Given the description of an element on the screen output the (x, y) to click on. 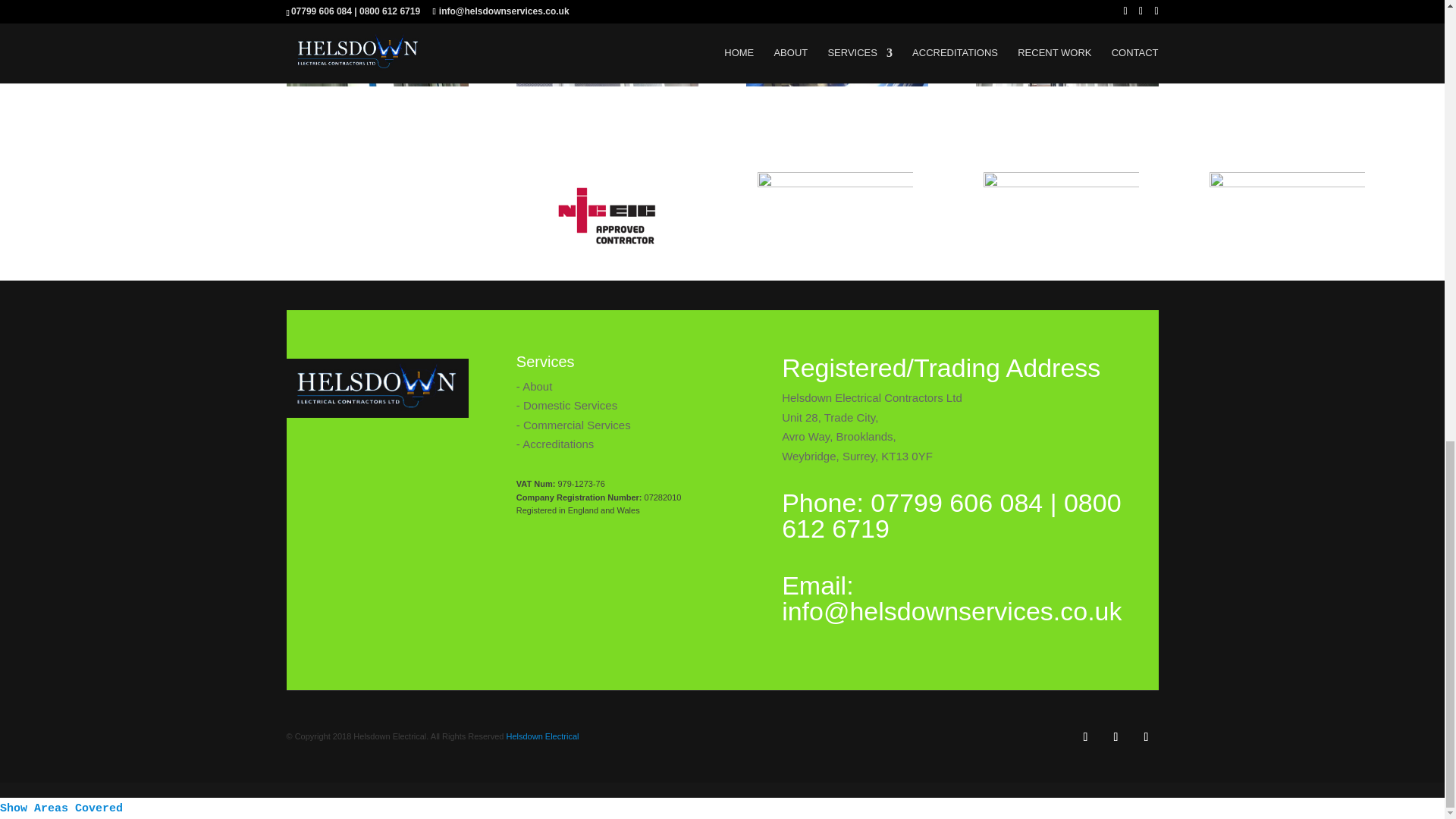
Follow on Instagram (1146, 736)
Helsdown Electrical (541, 736)
Follow on Twitter (1115, 736)
Follow on Facebook (1085, 736)
